Given the description of an element on the screen output the (x, y) to click on. 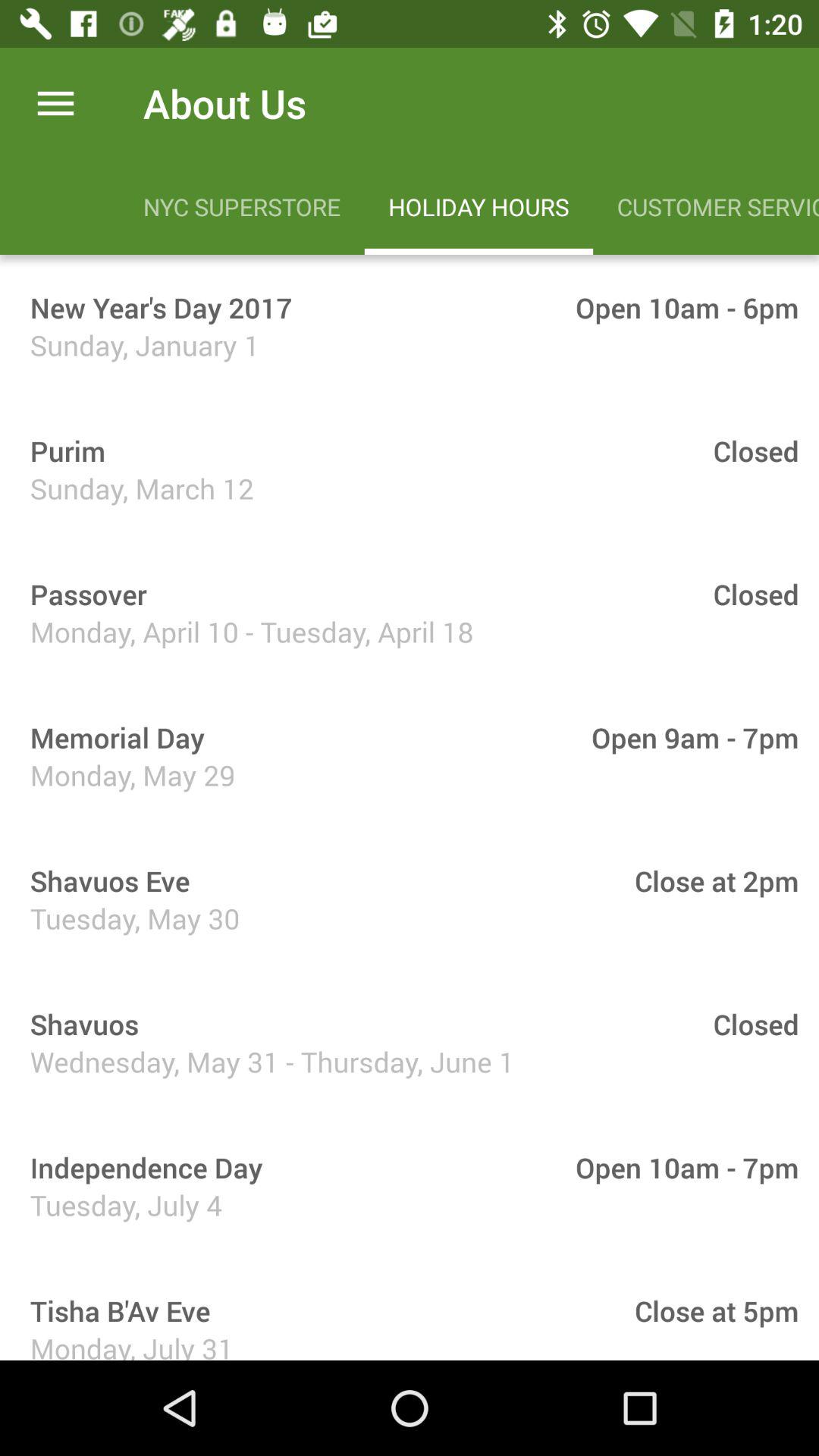
tap the independence day (140, 1167)
